Given the description of an element on the screen output the (x, y) to click on. 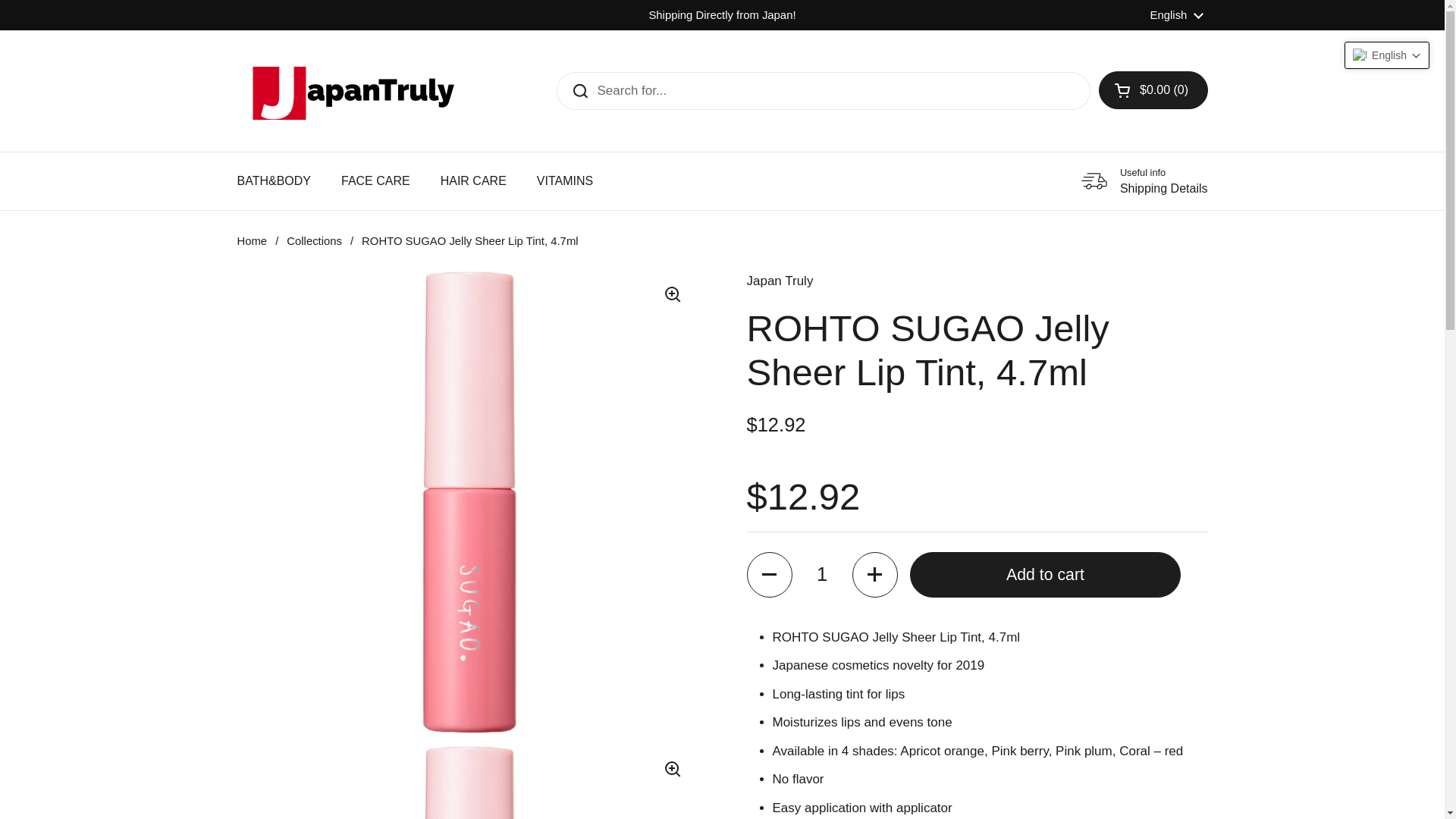
Japan Truly (778, 281)
VITAMINS (564, 181)
Japan Truly (349, 90)
FACE CARE (375, 181)
Add to cart (1045, 574)
Collections (314, 241)
HAIR CARE (473, 181)
VITAMINS (564, 181)
1 (821, 574)
Home (1144, 181)
English (250, 241)
FACE CARE (1177, 14)
HAIR CARE (375, 181)
